Given the description of an element on the screen output the (x, y) to click on. 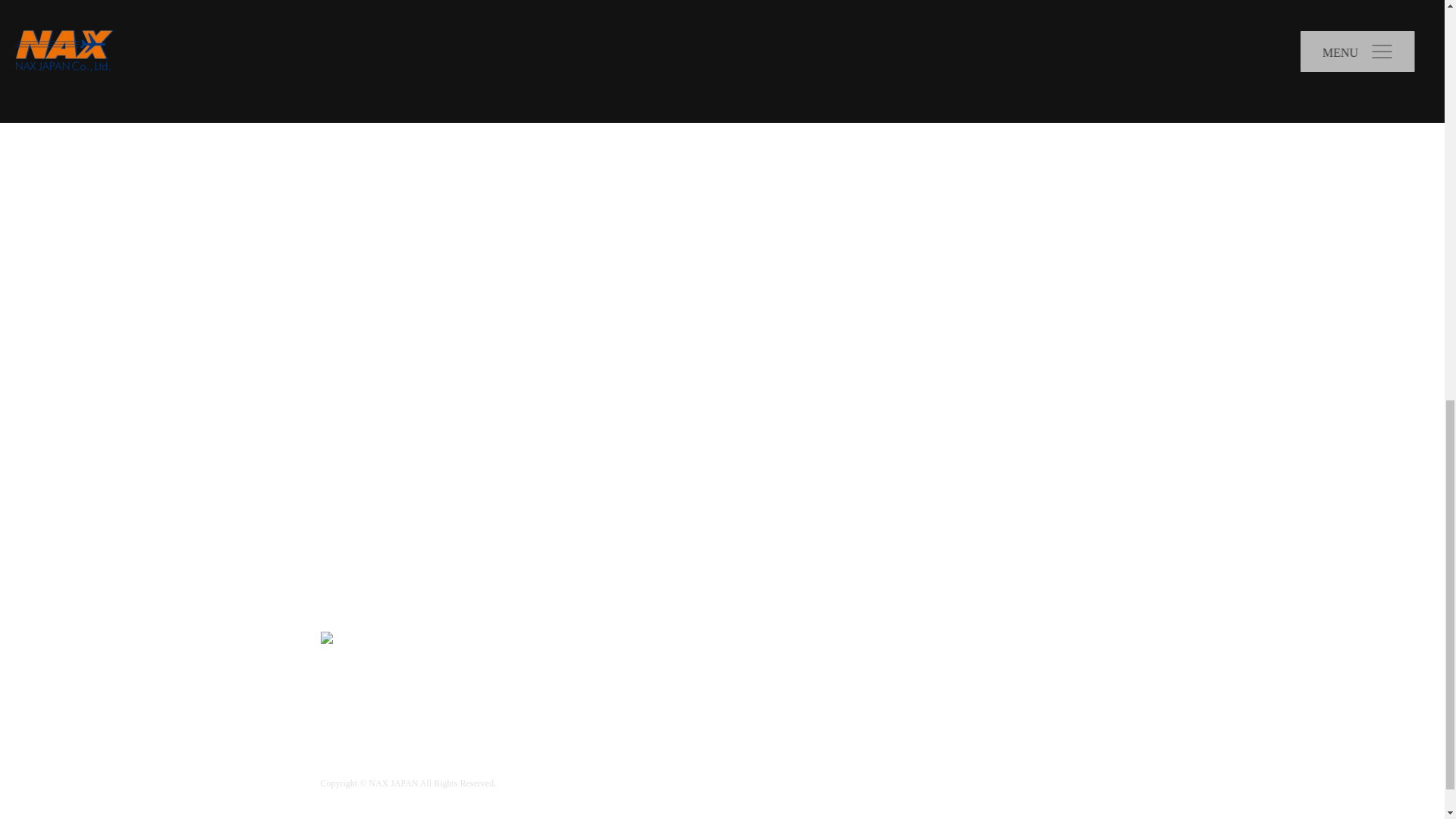
INFORMATION (907, 675)
DIGITAL TRANSFORMATION (854, 711)
CONTACT (894, 757)
CHALLENGE (739, 711)
HISTORY (986, 675)
PHILOSOPHY (819, 675)
PRIVACY (725, 757)
CERTIFICATION (1075, 711)
RECRUIT (809, 757)
HOME (717, 638)
OFFICE (1047, 675)
NEWS (782, 638)
ENVIRONMENT (978, 711)
SOLUTIONS (861, 638)
